Given the description of an element on the screen output the (x, y) to click on. 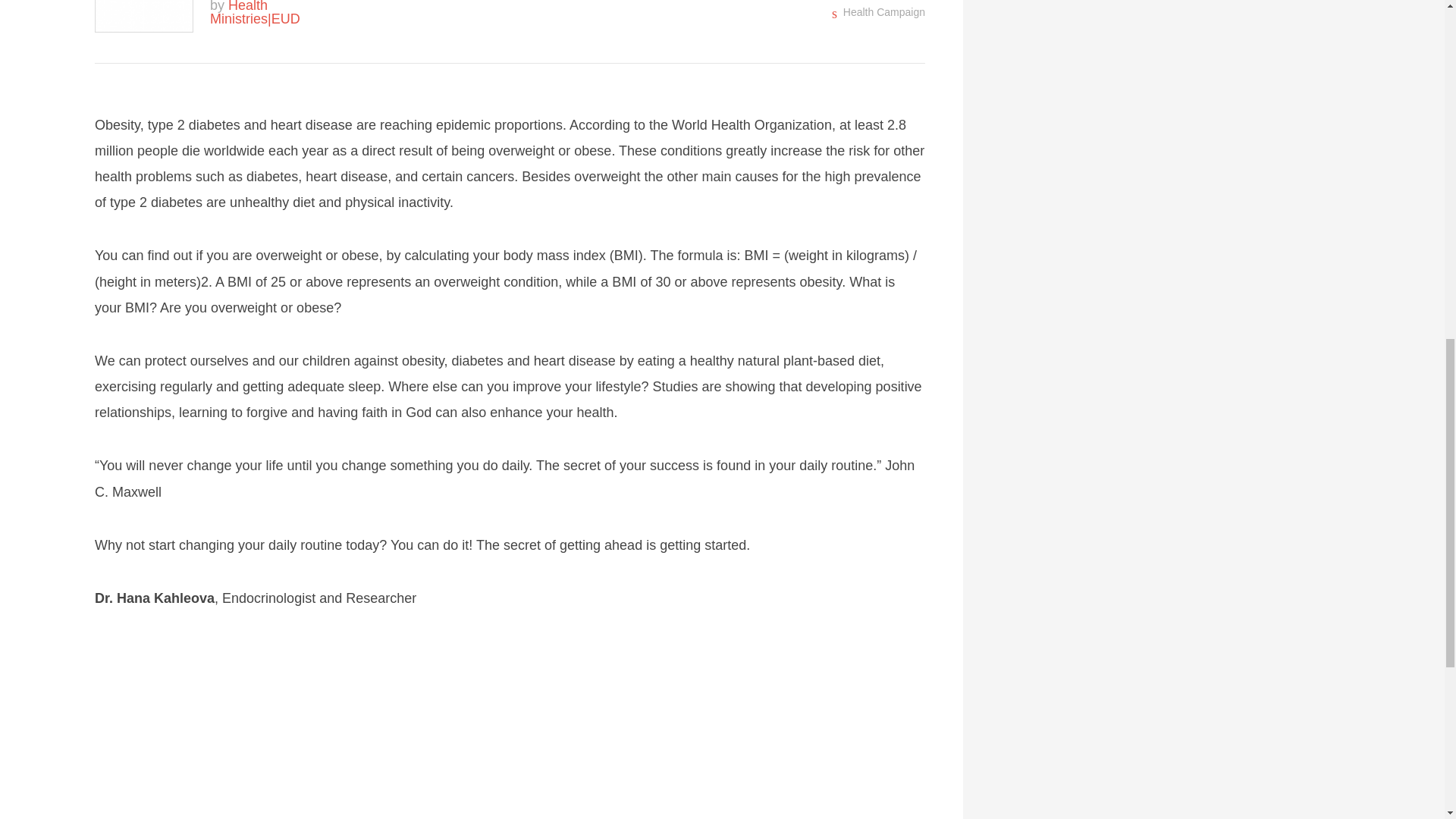
JoomlaWorks AllVideos Player (510, 728)
Health Campaign (883, 11)
